Given the description of an element on the screen output the (x, y) to click on. 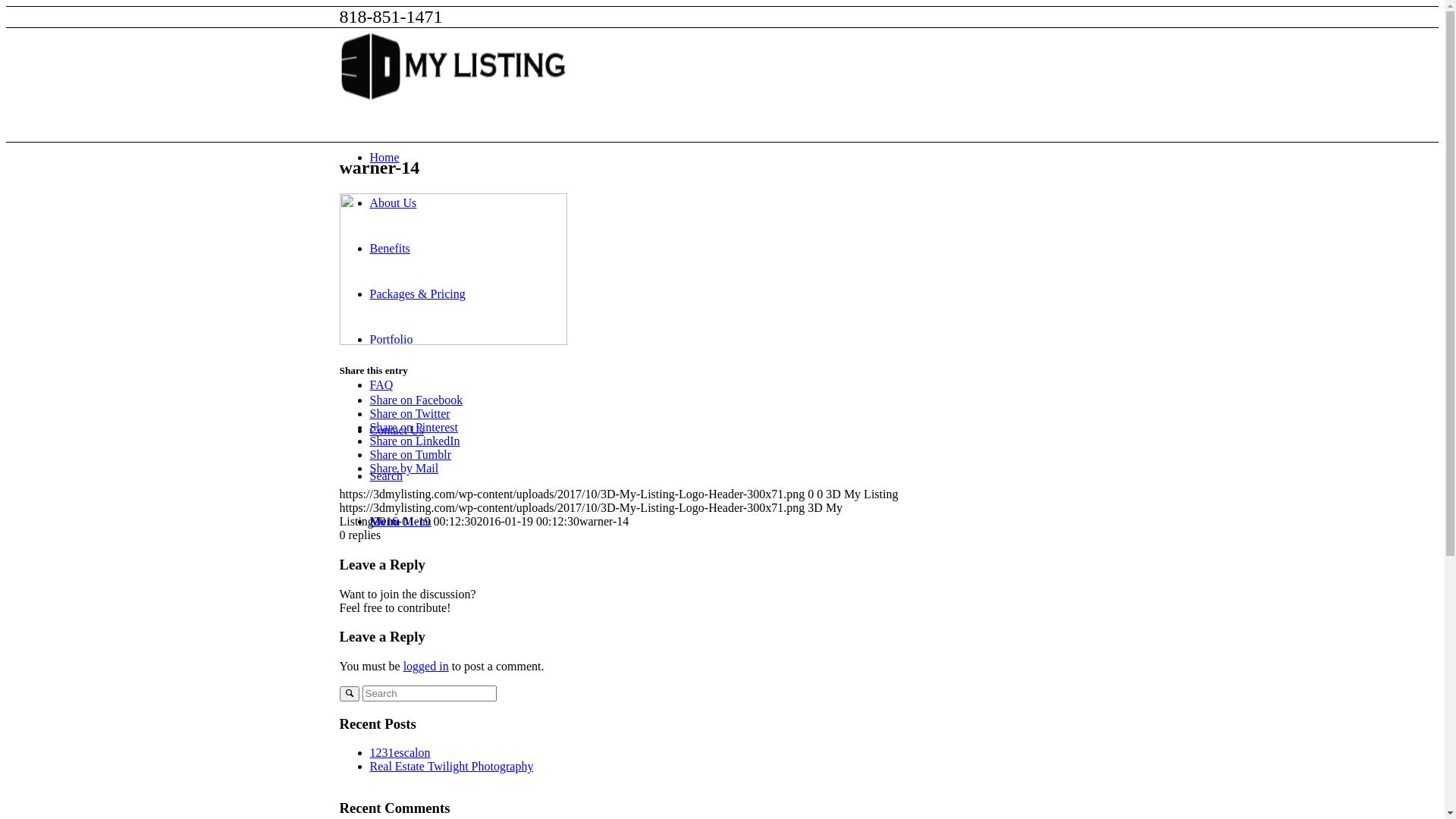
Share on Tumblr Element type: text (410, 454)
Real Estate Twilight Photography Element type: text (451, 765)
Contact Us Element type: text (397, 429)
Benefits Element type: text (390, 247)
1231escalon Element type: text (400, 752)
Share on Pinterest Element type: text (414, 426)
About Us Element type: text (393, 202)
Share on LinkedIn Element type: text (415, 440)
logged in Element type: text (425, 665)
Portfolio Element type: text (391, 338)
Share on Facebook Element type: text (416, 399)
Packages & Pricing Element type: text (417, 293)
Home Element type: text (384, 156)
Menu Menu Element type: text (400, 520)
Share on Twitter Element type: text (410, 413)
Share by Mail Element type: text (404, 467)
FAQ Element type: text (381, 384)
Search Element type: text (386, 475)
